Given the description of an element on the screen output the (x, y) to click on. 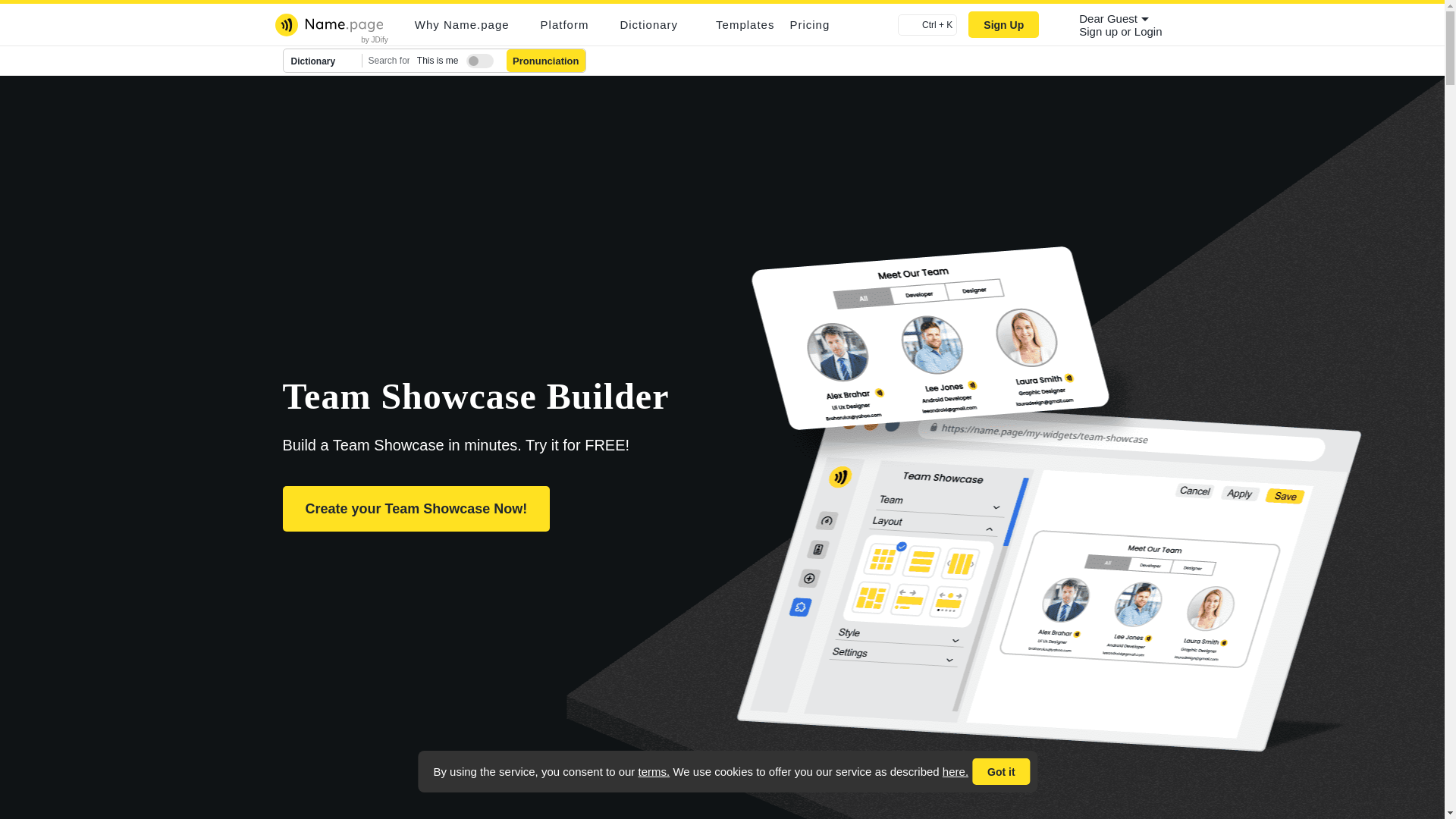
Pricing (809, 24)
Is this your name? (476, 58)
Search name pronunciation (545, 60)
by JDify (374, 39)
Templates (745, 24)
Sign Up (1003, 24)
Pronunciation (545, 60)
Sign-up it's free and takes just 2 minutes (1099, 31)
Login (1147, 31)
Sign up (1099, 31)
Sign in to your account (1147, 31)
Dictionary (322, 60)
